Given the description of an element on the screen output the (x, y) to click on. 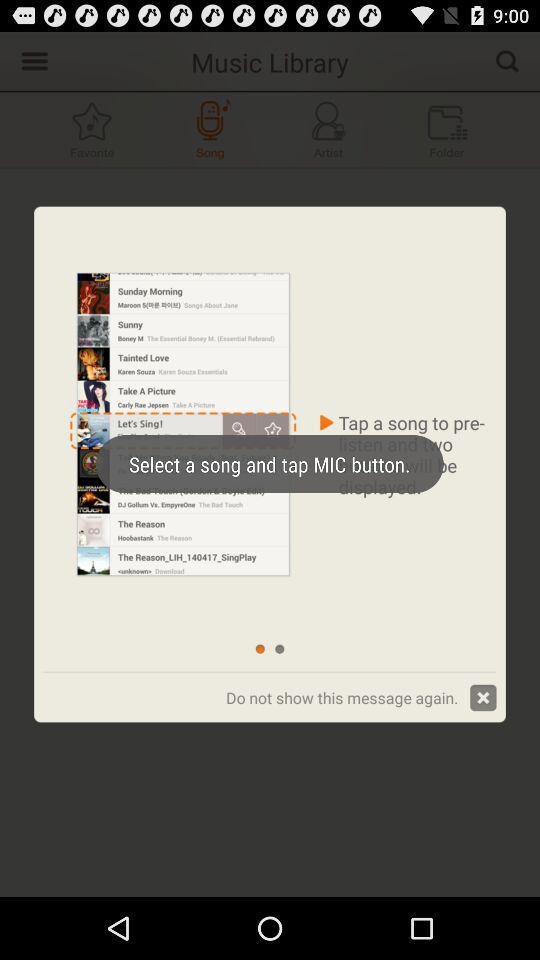
go to your music/recording list (447, 129)
